Given the description of an element on the screen output the (x, y) to click on. 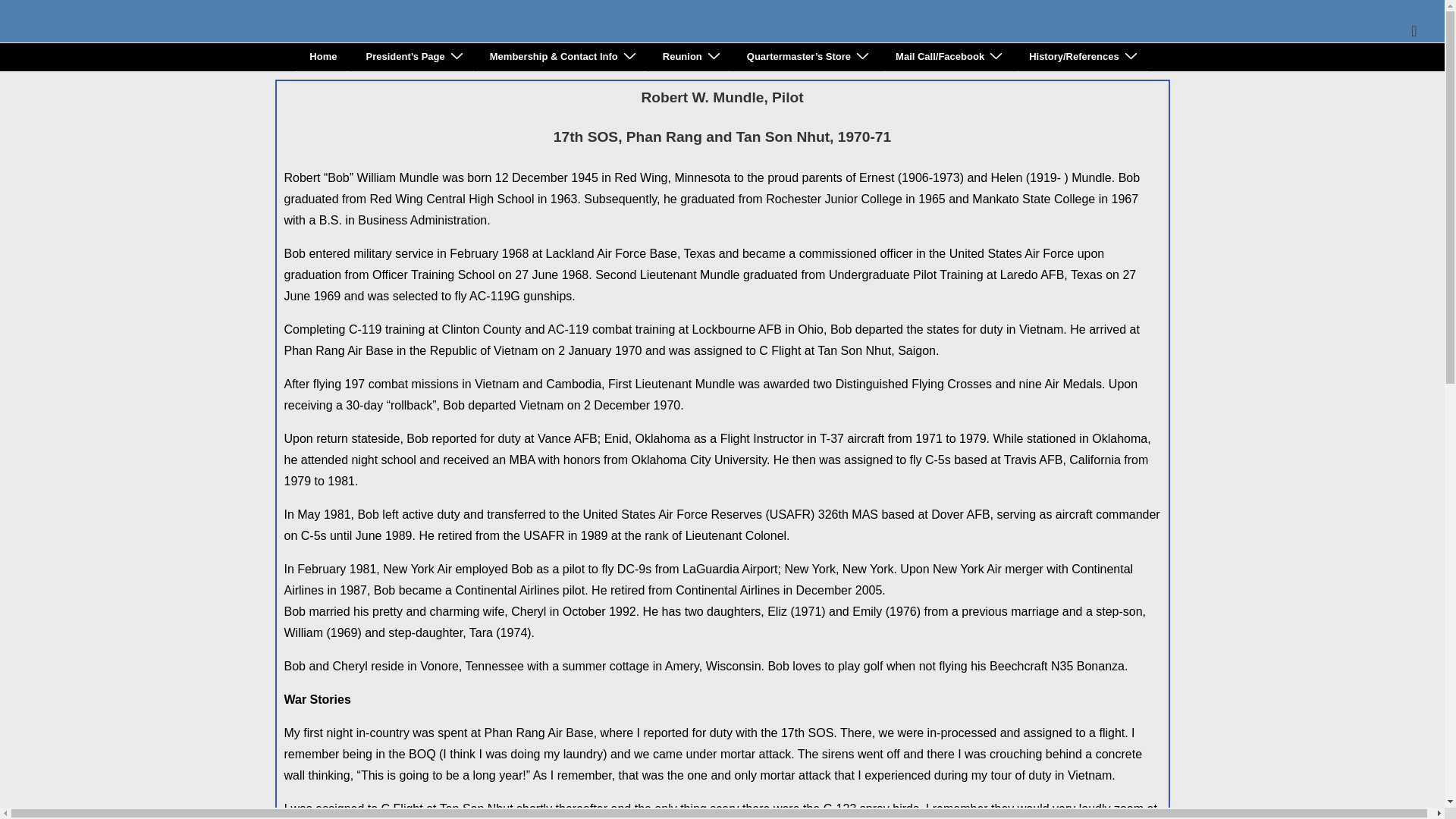
Reunion (690, 56)
Home (322, 56)
Store (806, 56)
